Given the description of an element on the screen output the (x, y) to click on. 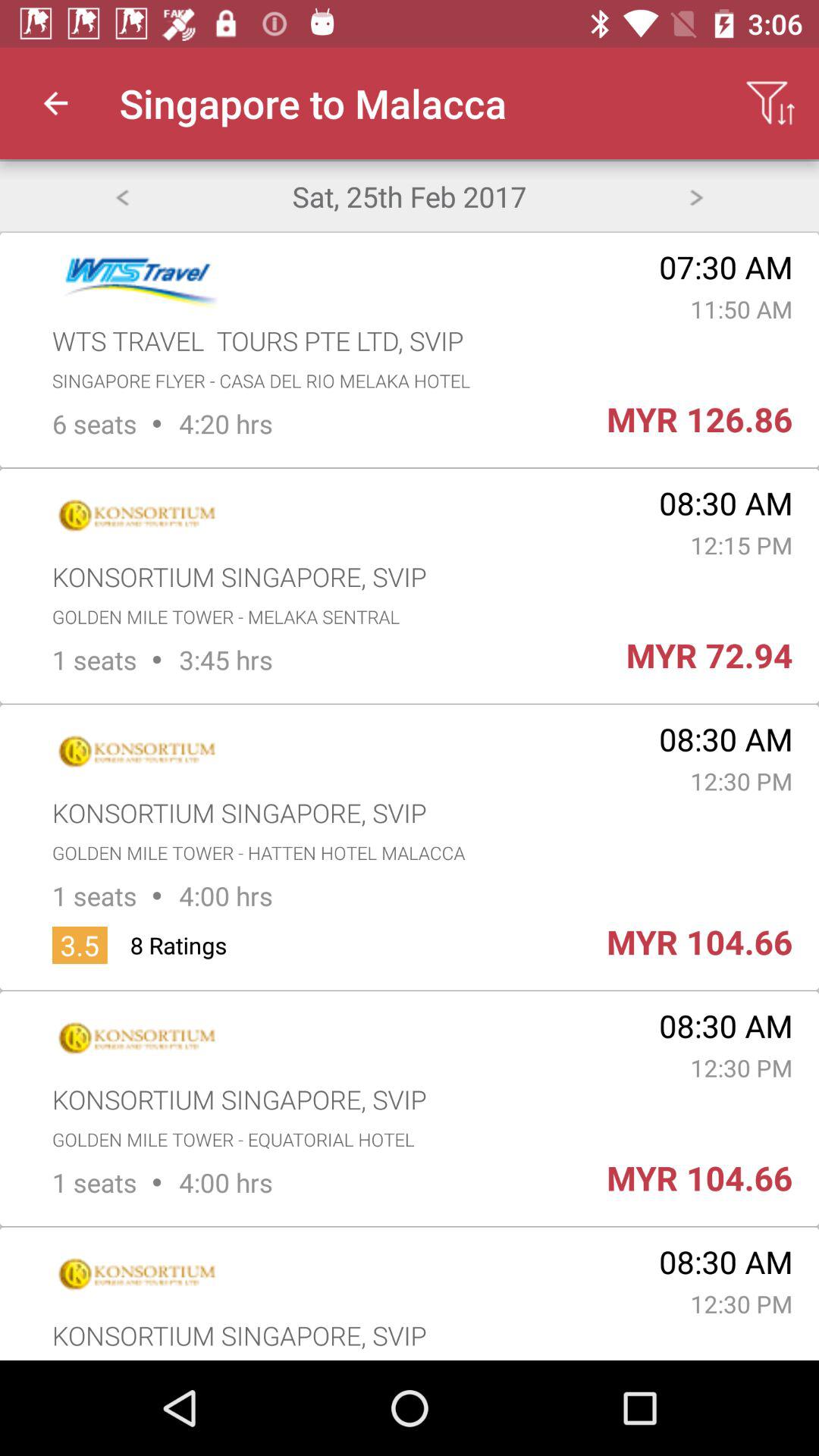
next days events (696, 196)
